Given the description of an element on the screen output the (x, y) to click on. 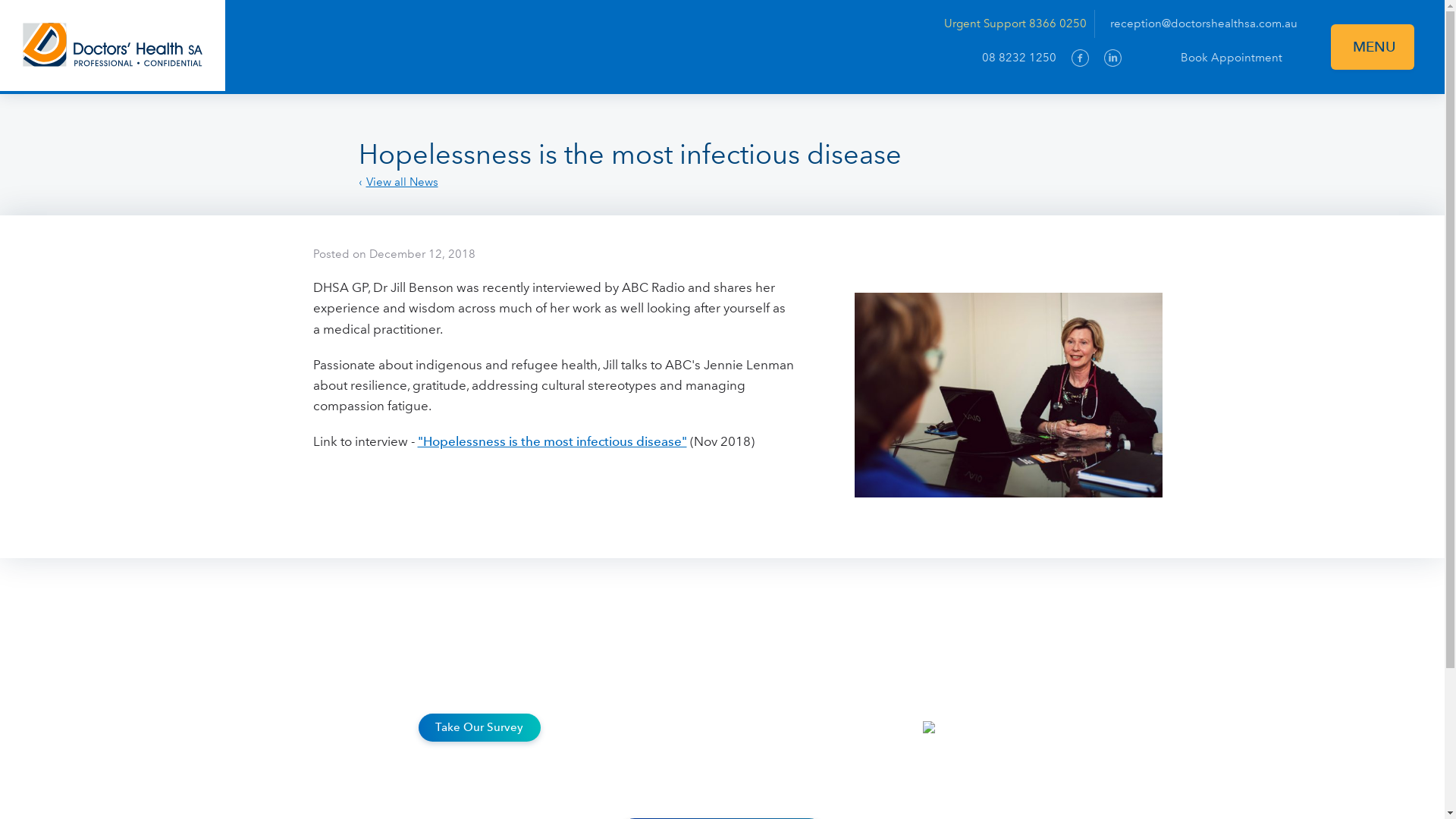
Book Appointment Element type: text (1216, 57)
reception@doctorshealthsa.com.au Element type: text (1203, 23)
View all News Element type: text (397, 182)
Take Our Survey Element type: text (479, 727)
"Hopelessness is the most infectious disease" Element type: text (551, 440)
MENU Element type: text (1372, 46)
08 8232 1250 Element type: text (1019, 57)
Urgent Support 8366 0250 Element type: text (1019, 23)
